Given the description of an element on the screen output the (x, y) to click on. 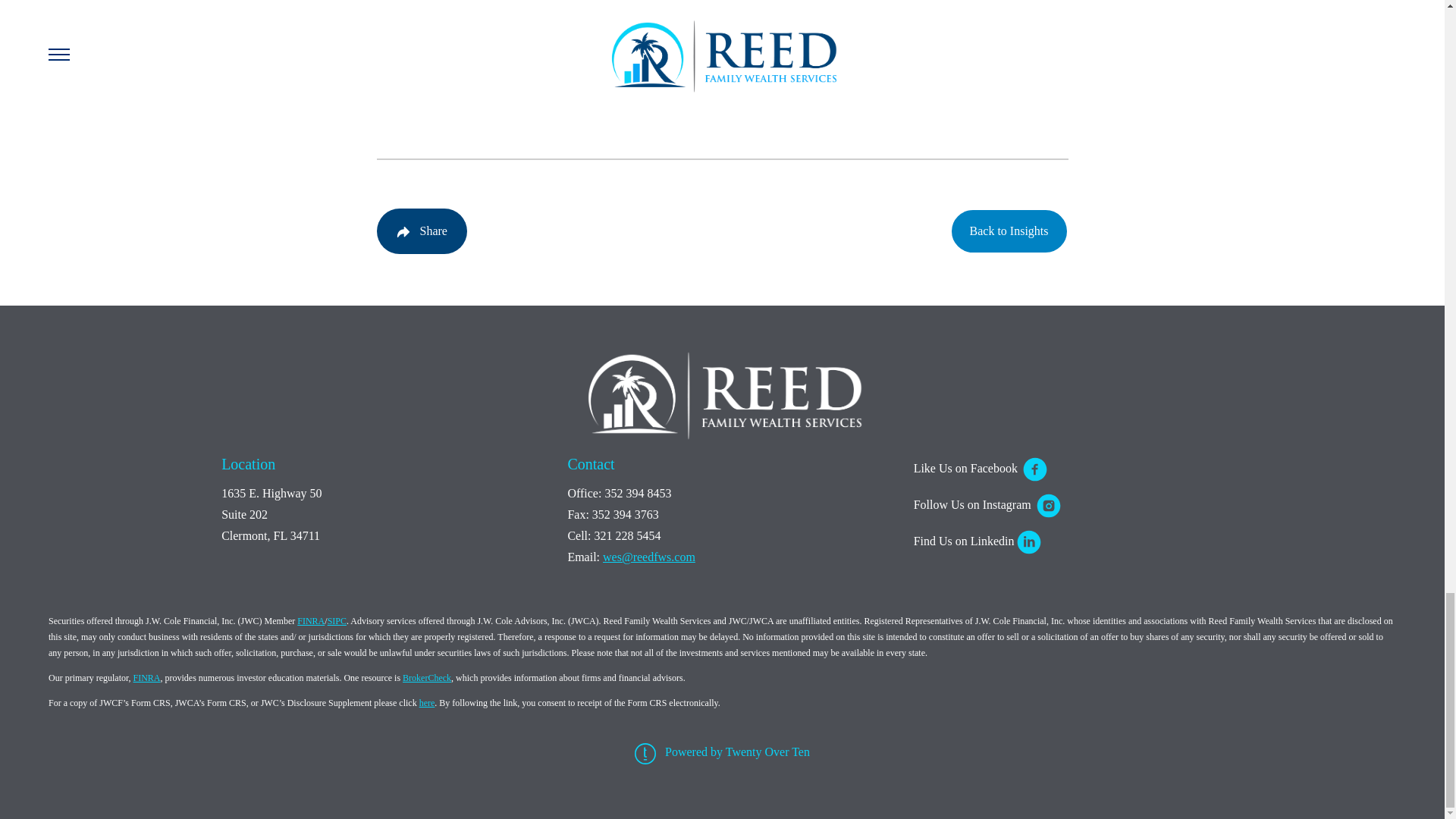
FINRA (310, 620)
here (427, 702)
FINRA (146, 677)
Back to Insights (1008, 230)
Share (420, 230)
BrokerCheck (427, 677)
Powered by Twenty Over Ten (728, 752)
SIPC (336, 620)
